Given the description of an element on the screen output the (x, y) to click on. 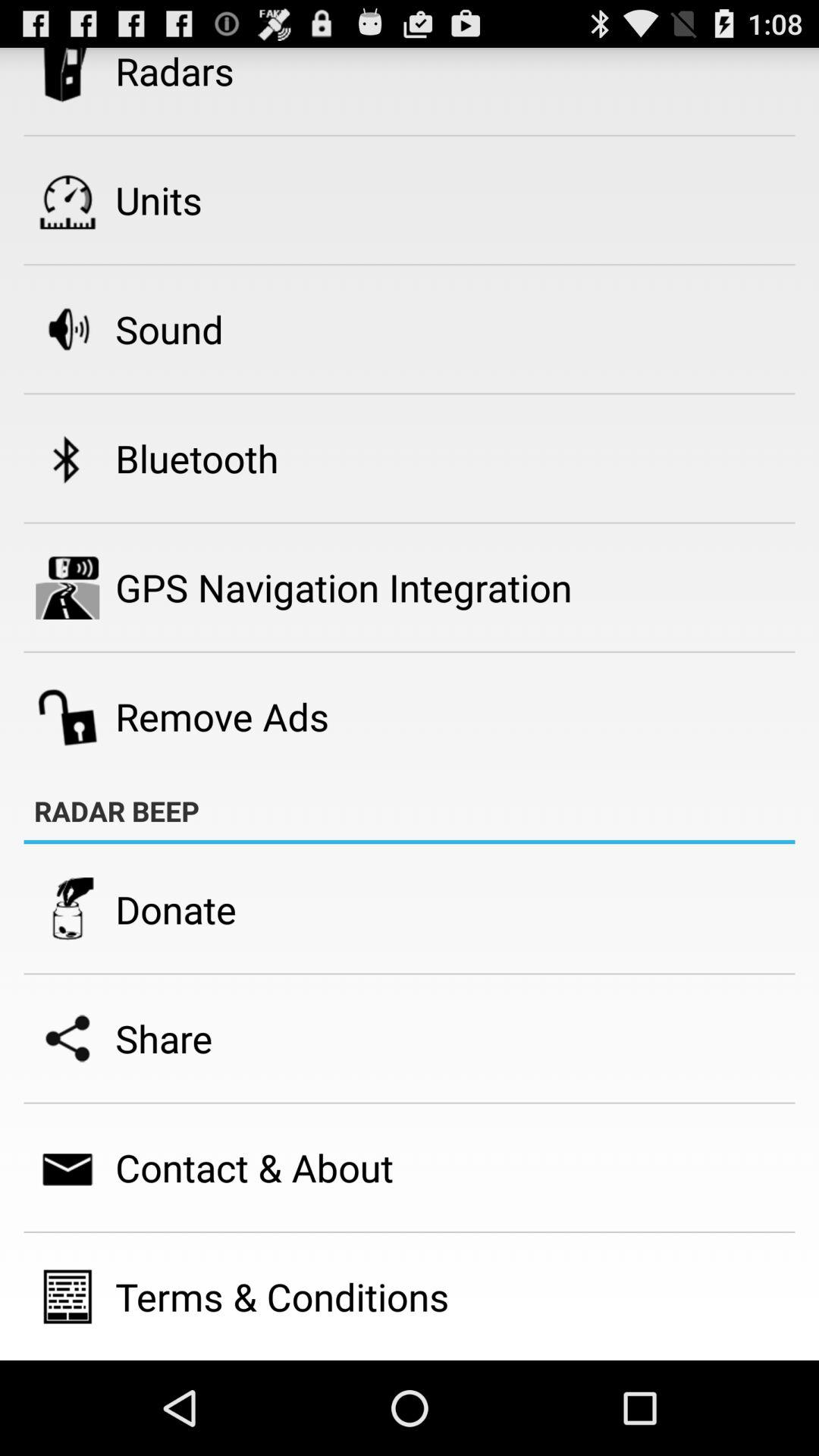
tap share icon (163, 1038)
